Given the description of an element on the screen output the (x, y) to click on. 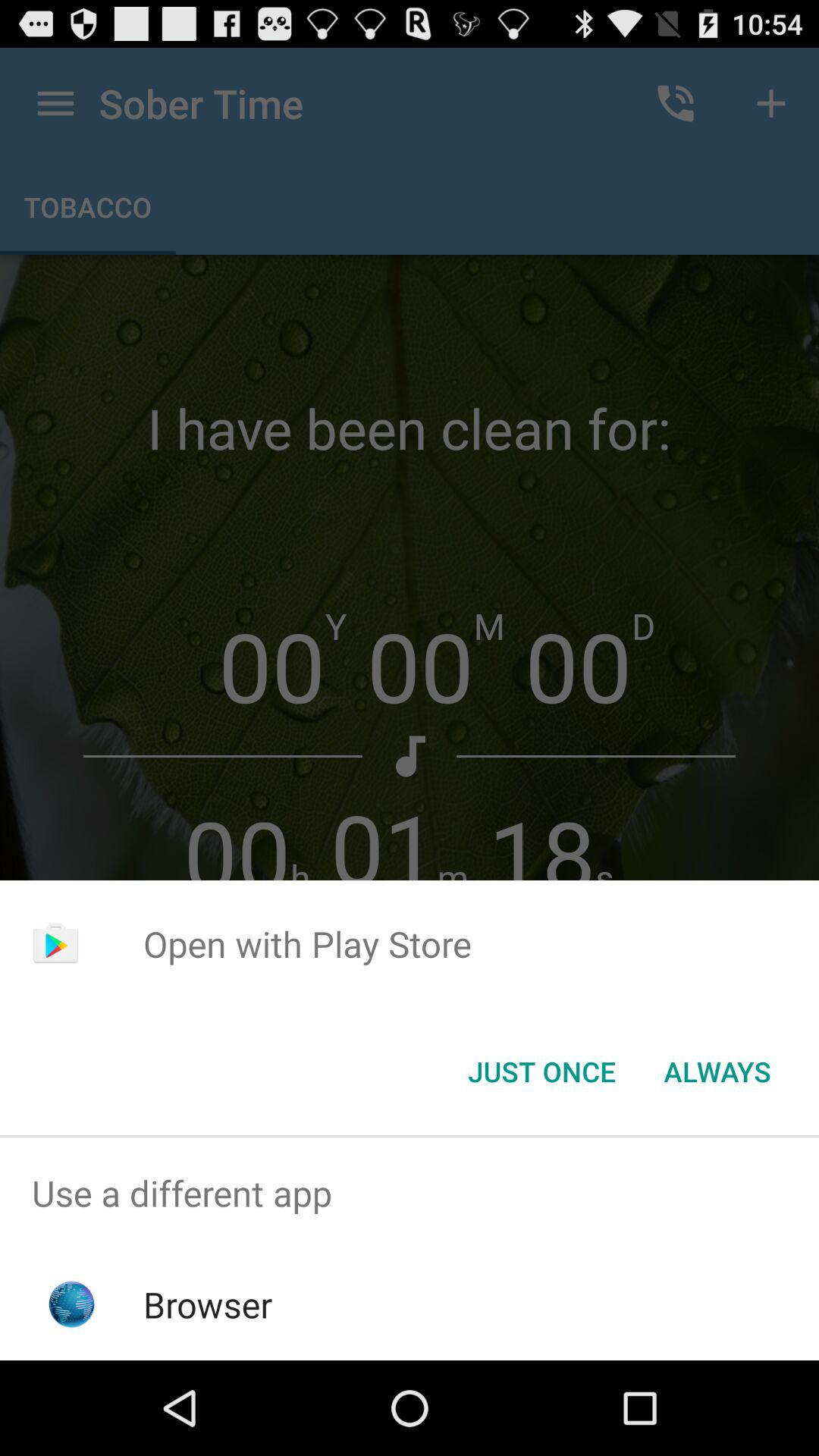
select the icon next to the just once icon (717, 1071)
